Given the description of an element on the screen output the (x, y) to click on. 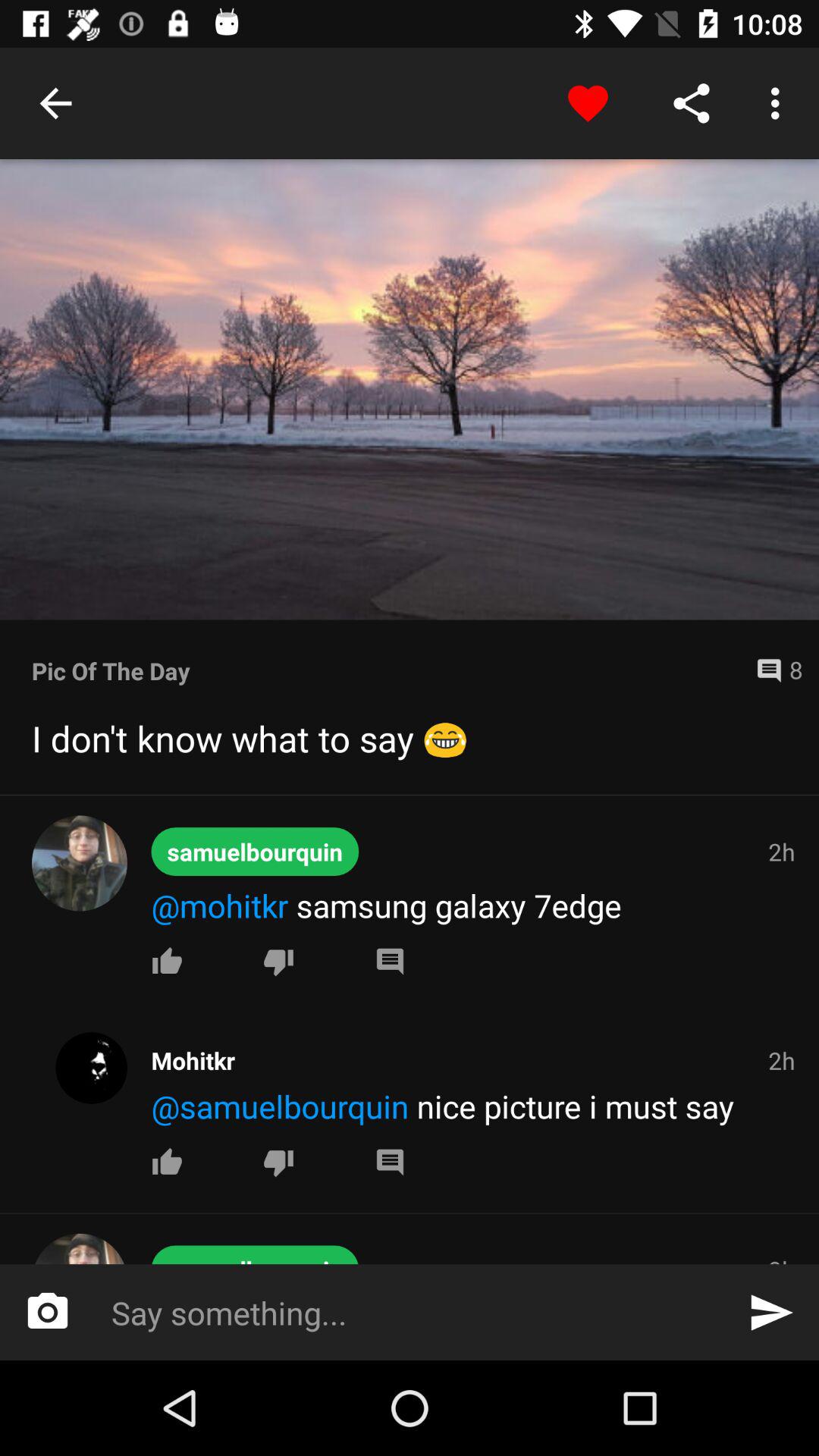
turn on 3h icon (781, 1258)
